Given the description of an element on the screen output the (x, y) to click on. 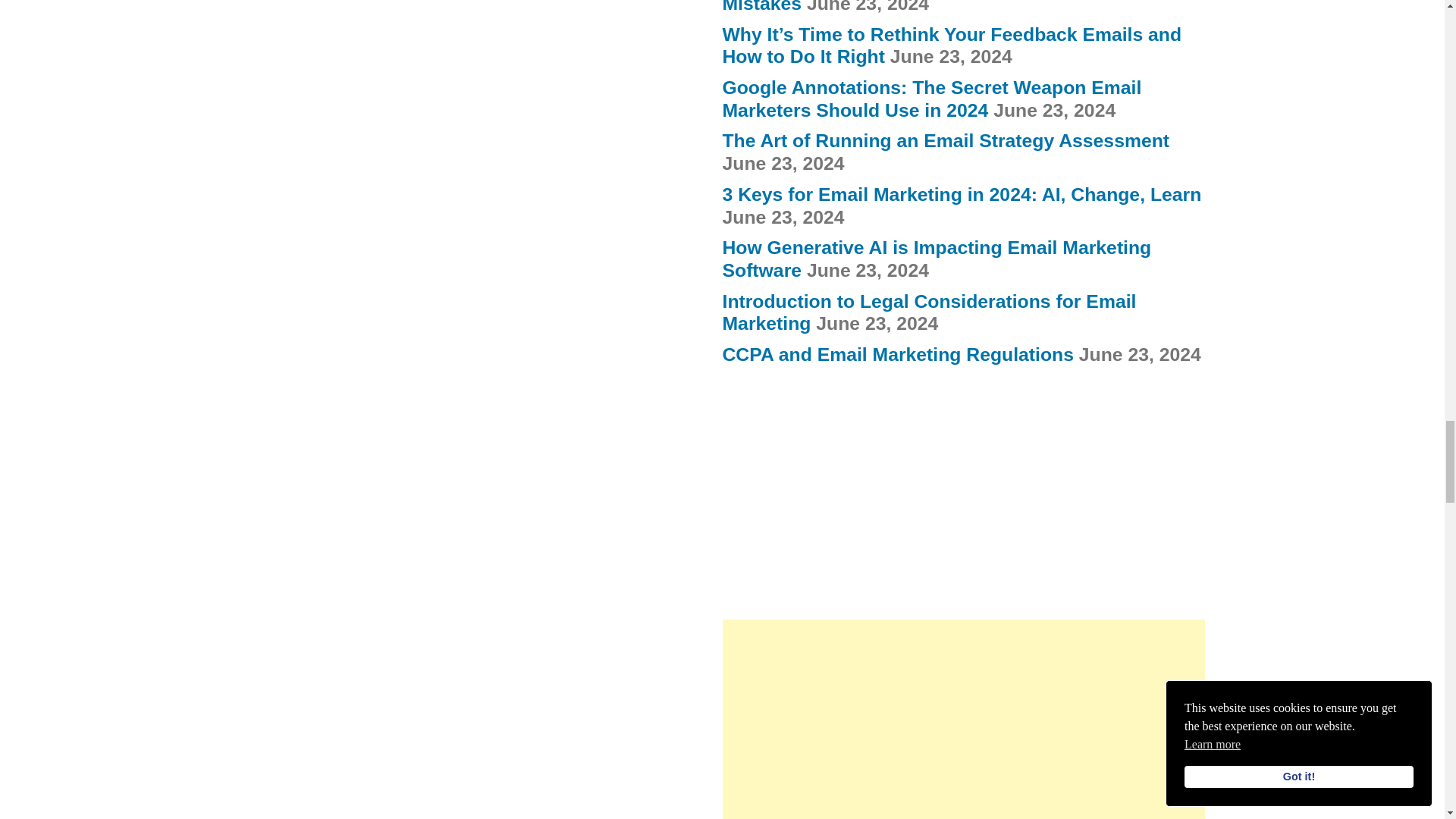
How Generative AI is Impacting Email Marketing Software (936, 258)
The Art of Running an Email Strategy Assessment (945, 140)
CCPA and Email Marketing Regulations (897, 353)
3 Keys for Email Marketing in 2024: AI, Change, Learn (961, 194)
Introduction to Legal Considerations for Email Marketing (928, 312)
